Given the description of an element on the screen output the (x, y) to click on. 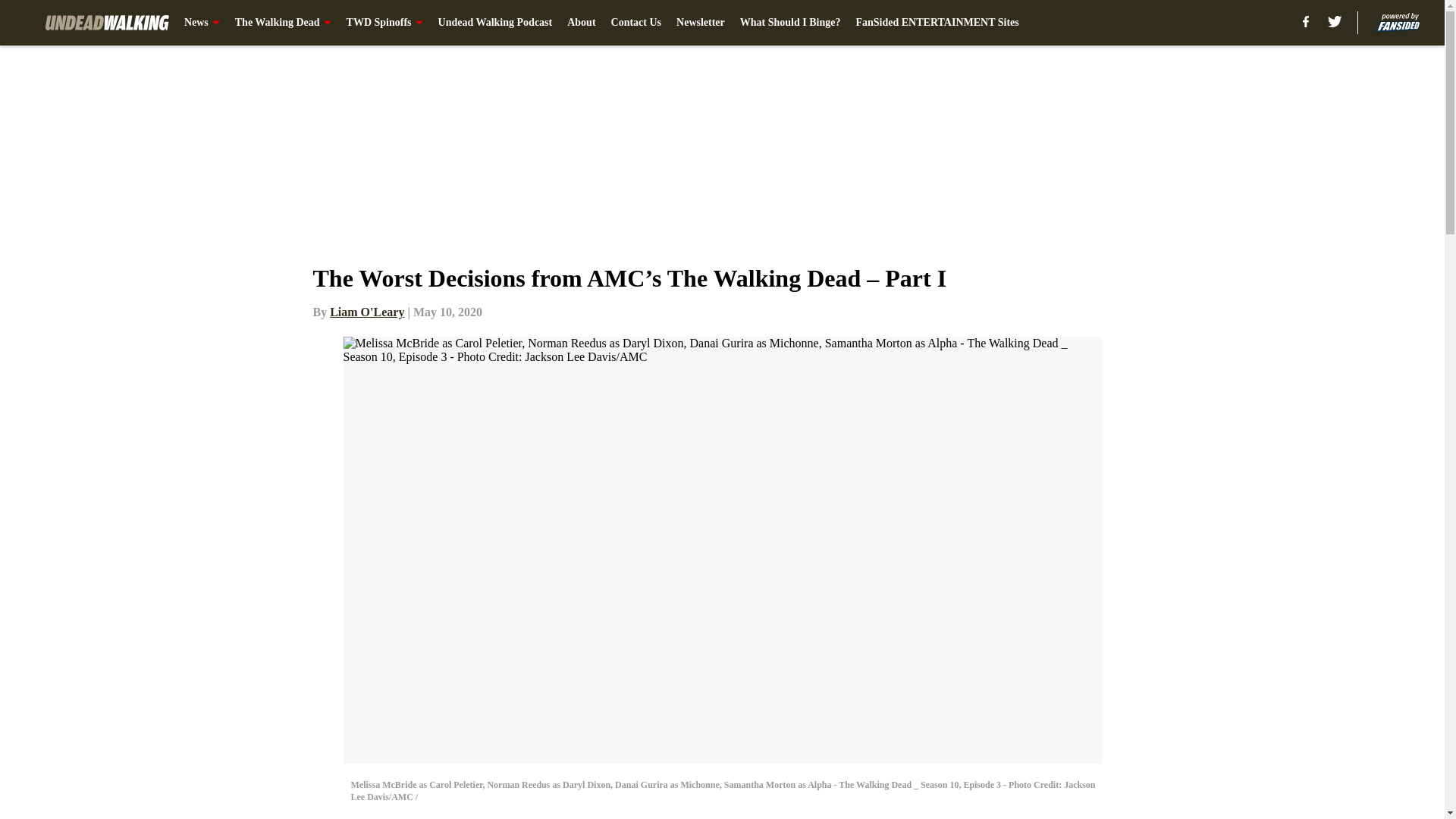
Undead Walking Podcast (495, 22)
About (581, 22)
FanSided ENTERTAINMENT Sites (936, 22)
Newsletter (701, 22)
Liam O'Leary (367, 311)
What Should I Binge? (790, 22)
Contact Us (636, 22)
